Given the description of an element on the screen output the (x, y) to click on. 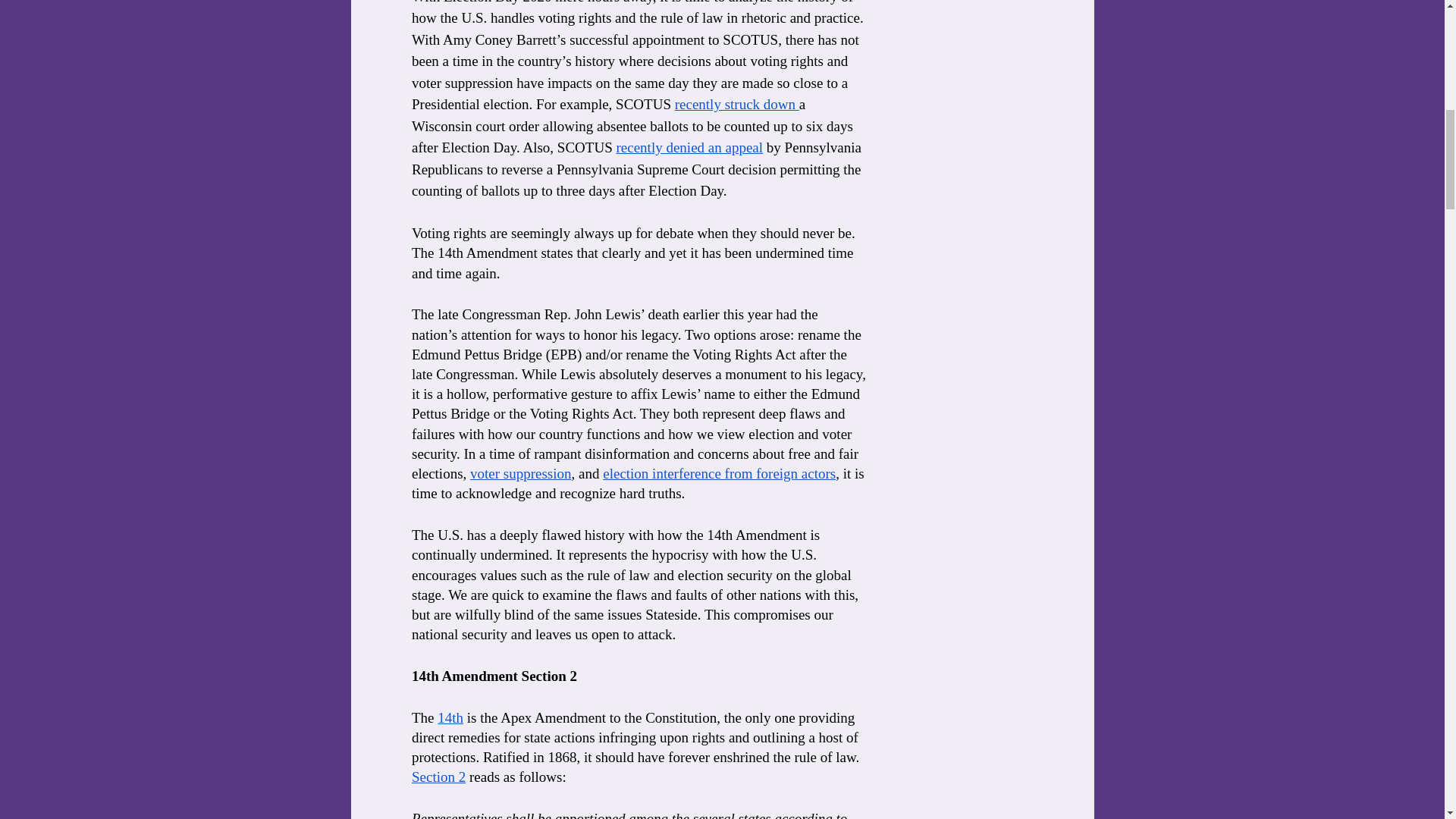
election interference from foreign actors (718, 473)
recently struck down  (735, 104)
Section 2 (437, 776)
voter suppression (521, 473)
14th (450, 717)
recently denied an appeal (688, 147)
